Given the description of an element on the screen output the (x, y) to click on. 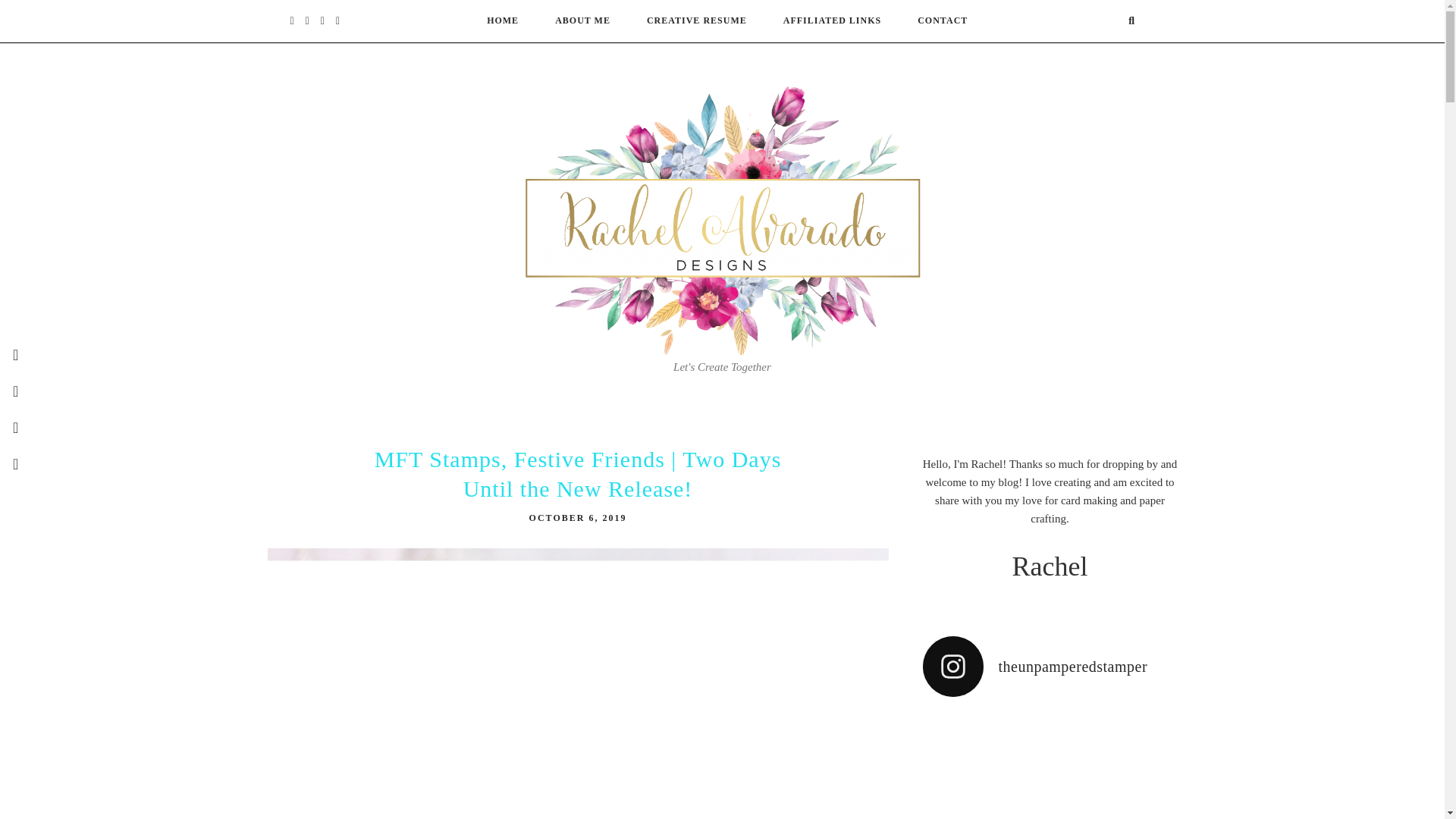
CONTACT (942, 20)
CREATIVE RESUME (696, 20)
ABOUT ME (582, 20)
AFFILIATED LINKS (831, 20)
